Given the description of an element on the screen output the (x, y) to click on. 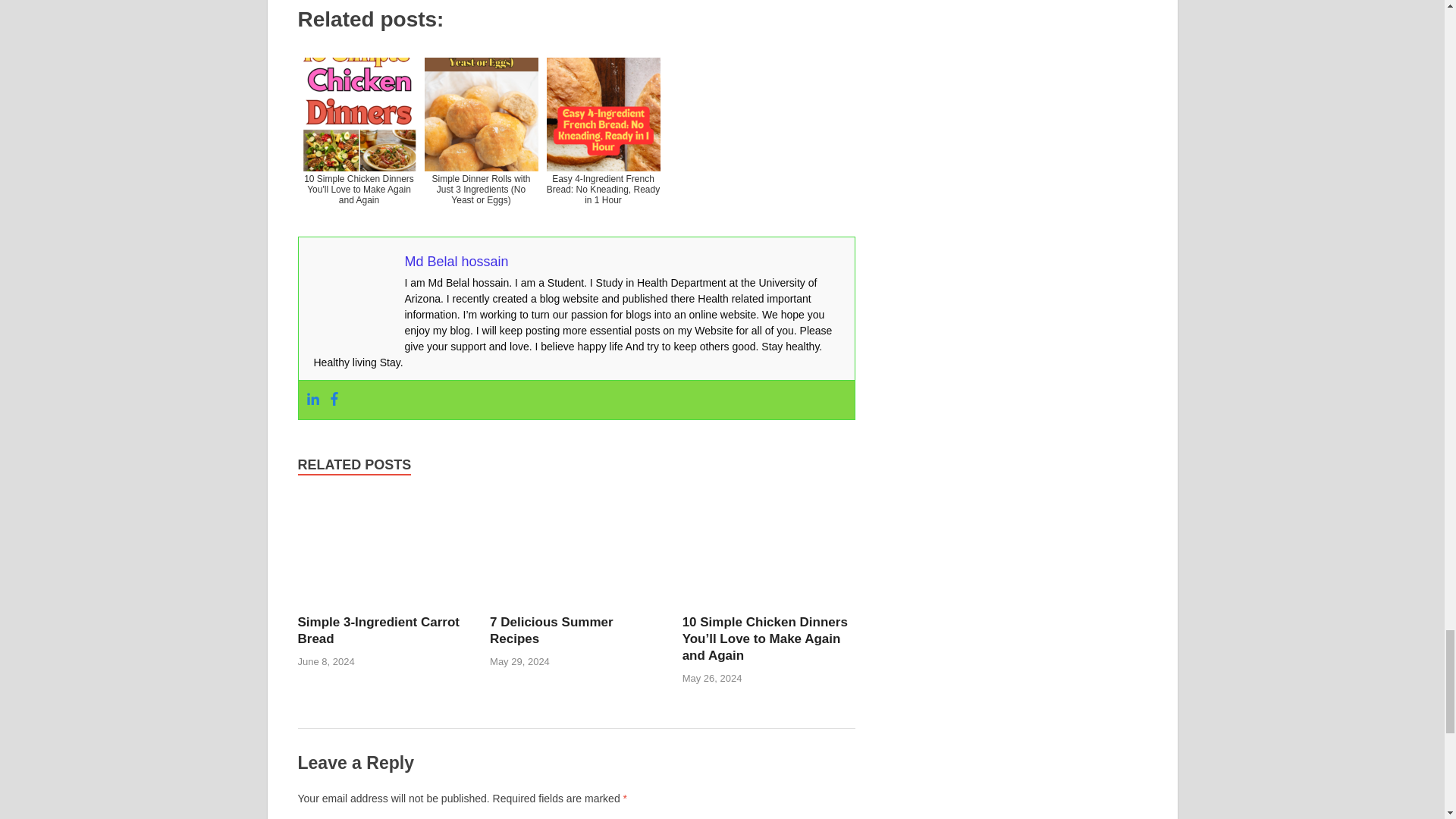
Md Belal hossain (456, 261)
7 Delicious Summer Recipes (550, 630)
Simple 3-Ingredient Carrot Bread (377, 630)
